Given the description of an element on the screen output the (x, y) to click on. 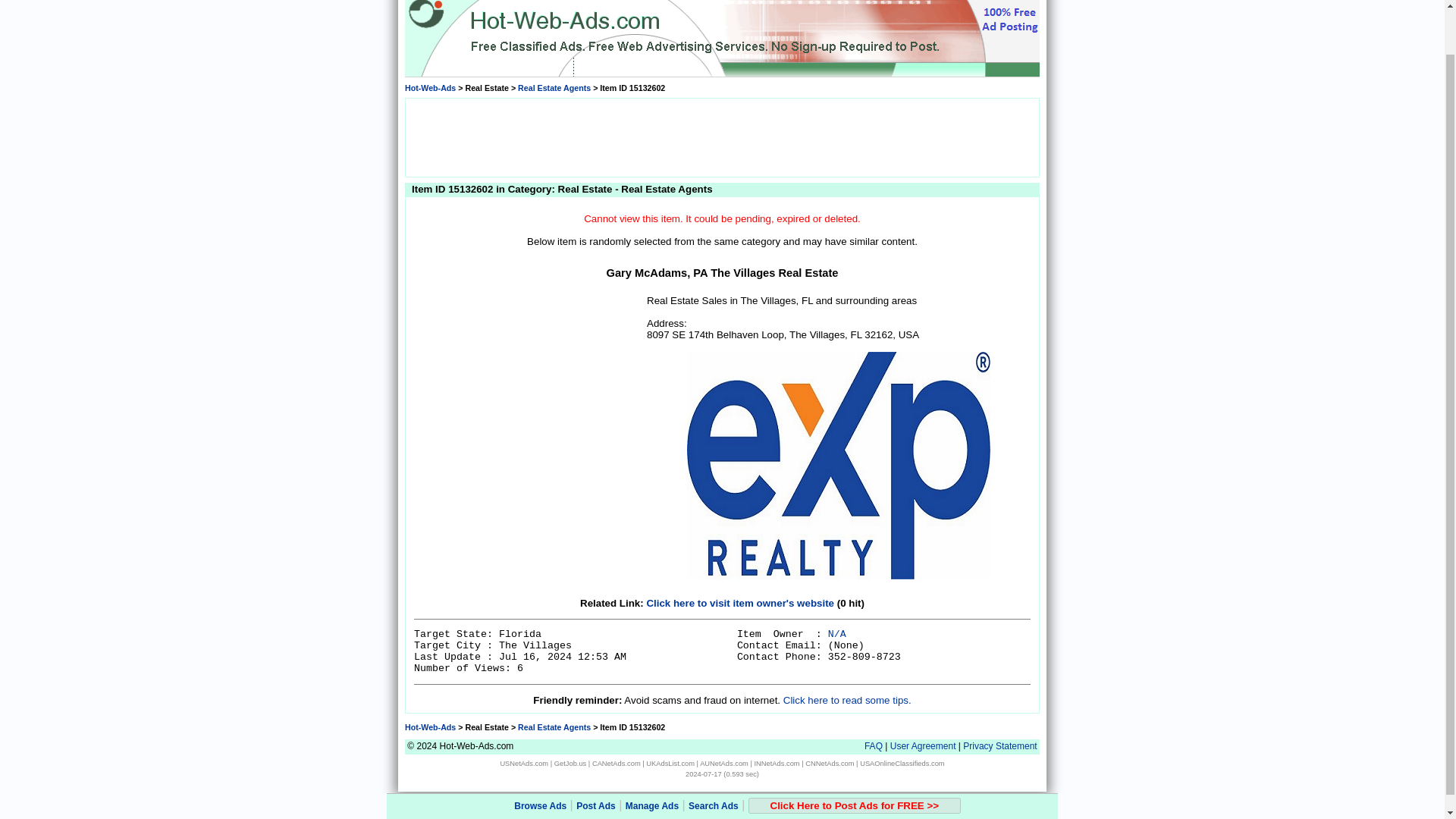
CANetAds.com (616, 763)
Browse all items posted by this owner (836, 633)
Real Estate Agents (554, 87)
INNetAds.com (776, 763)
Go Back to Hot-Web-Ads.com Home Page (429, 727)
Post Ads (595, 757)
Browse Ads (539, 757)
Click here to visit item owner's website (740, 603)
Real Estate Agents (554, 727)
USAOnlineClassifieds.com (901, 763)
UKAdsList.com (670, 763)
User Agreement (922, 746)
CNNetAds.com (829, 763)
USNetAds.com (523, 763)
Hot-Web-Ads (429, 727)
